Given the description of an element on the screen output the (x, y) to click on. 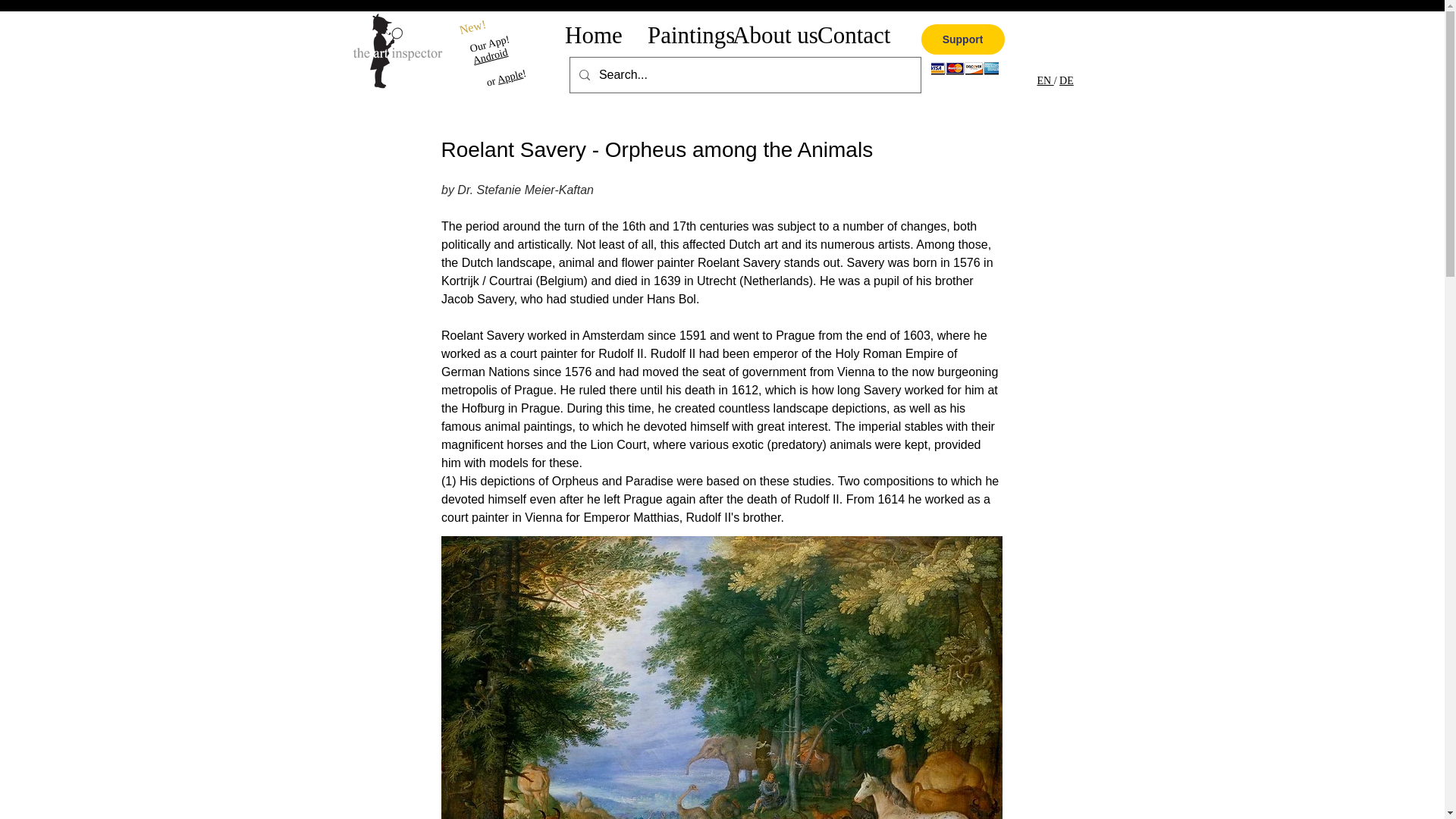
Home (593, 35)
Support (962, 39)
DE (1066, 80)
About us (763, 35)
Apple (508, 73)
Paintings (678, 35)
Android (488, 51)
Contact (848, 35)
EN (1045, 80)
